Given the description of an element on the screen output the (x, y) to click on. 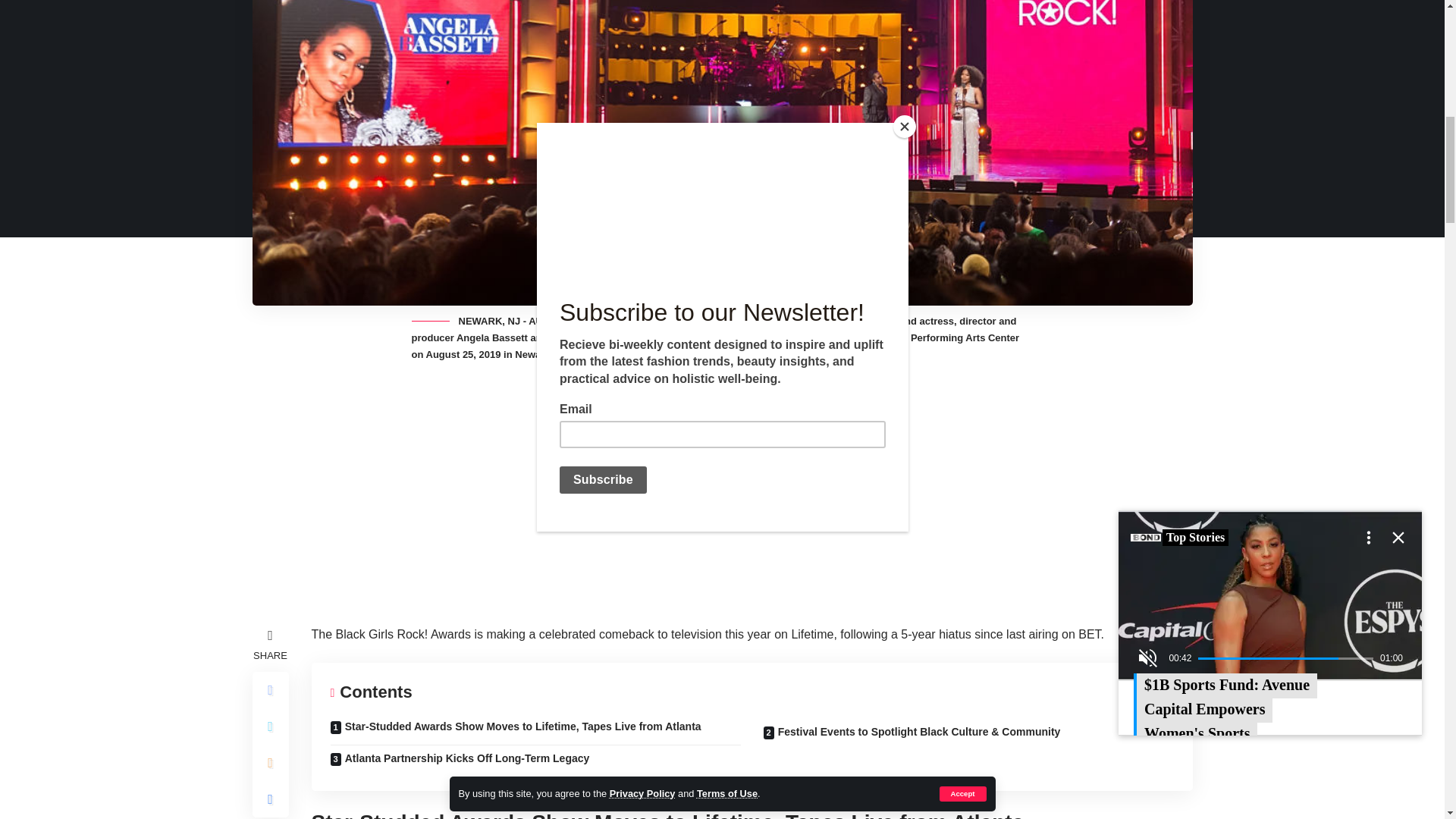
3rd party ad content (583, 498)
3rd party ad content (861, 498)
